Given the description of an element on the screen output the (x, y) to click on. 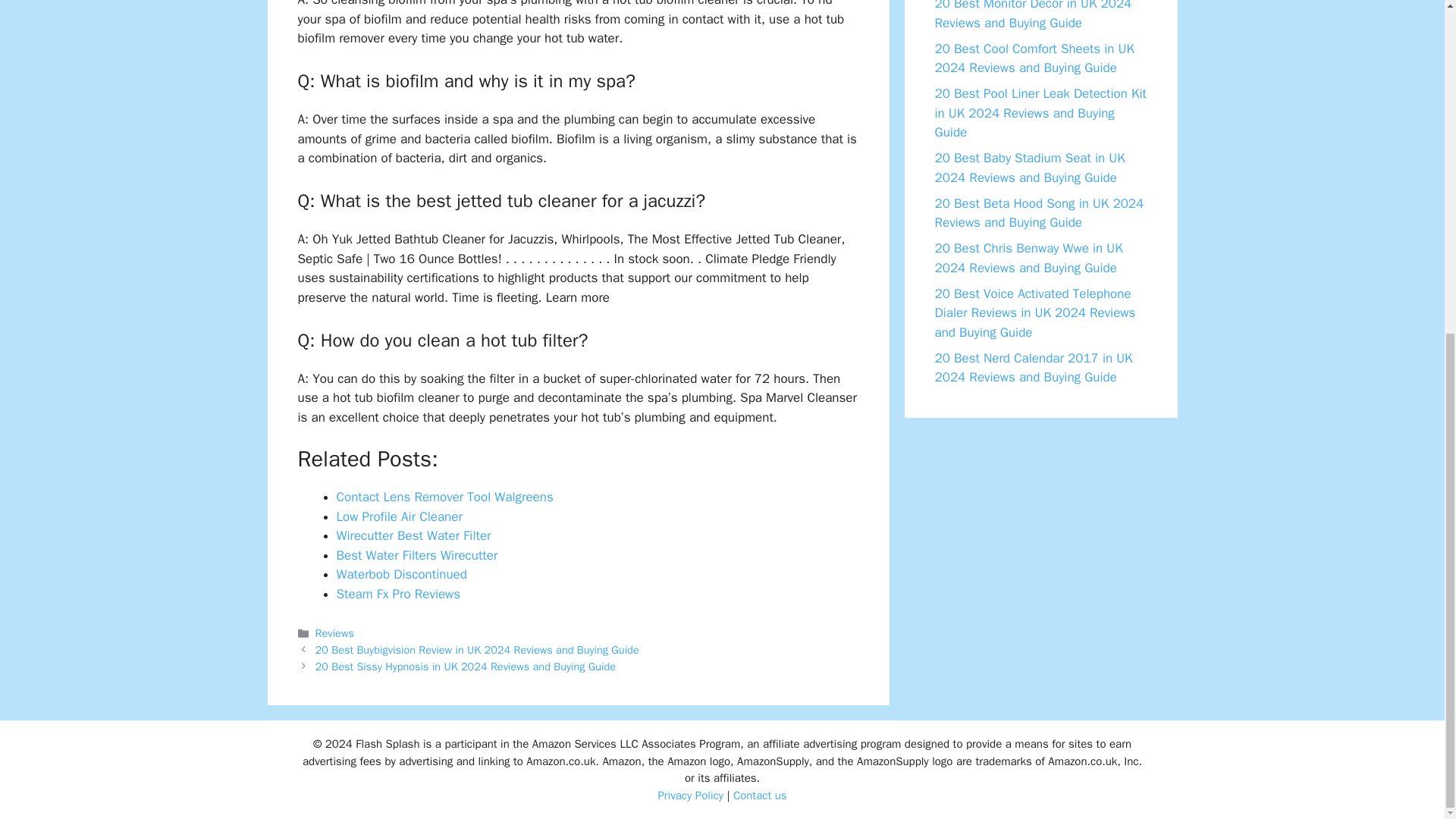
Wirecutter Best Water Filter (414, 535)
20 Best Monitor Decor in UK 2024 Reviews and Buying Guide (1032, 15)
Best Water Filters Wirecutter (416, 555)
Reviews (334, 632)
20 Best Chris Benway Wwe in UK 2024 Reviews and Buying Guide (1028, 258)
Previous (477, 649)
Steam Fx Pro Reviews (398, 593)
20 Best Beta Hood Song in UK 2024 Reviews and Buying Guide (1038, 212)
Contact Lens Remover Tool Walgreens (444, 496)
Contact us (760, 795)
